Given the description of an element on the screen output the (x, y) to click on. 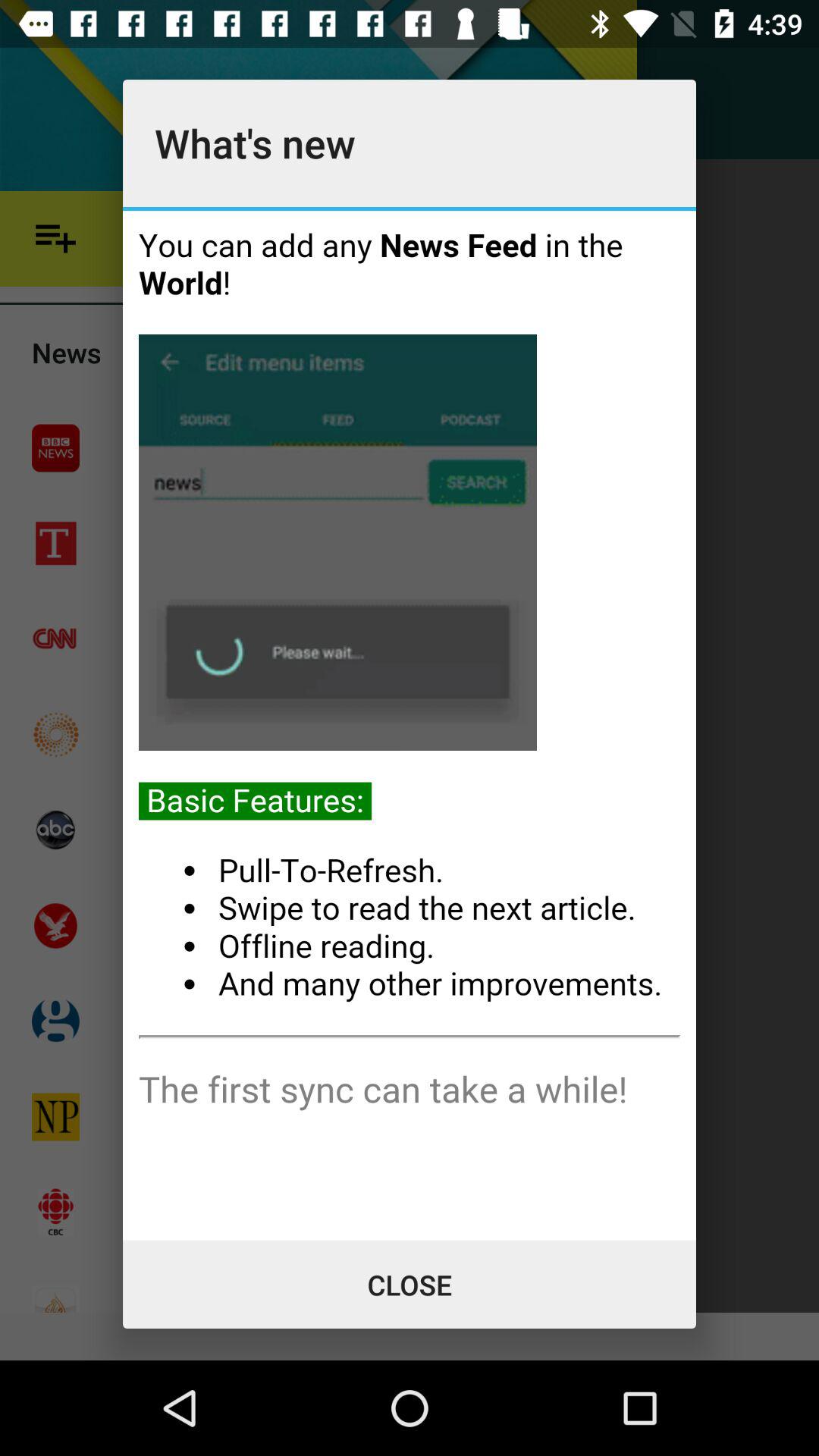
advertisement (409, 725)
